Given the description of an element on the screen output the (x, y) to click on. 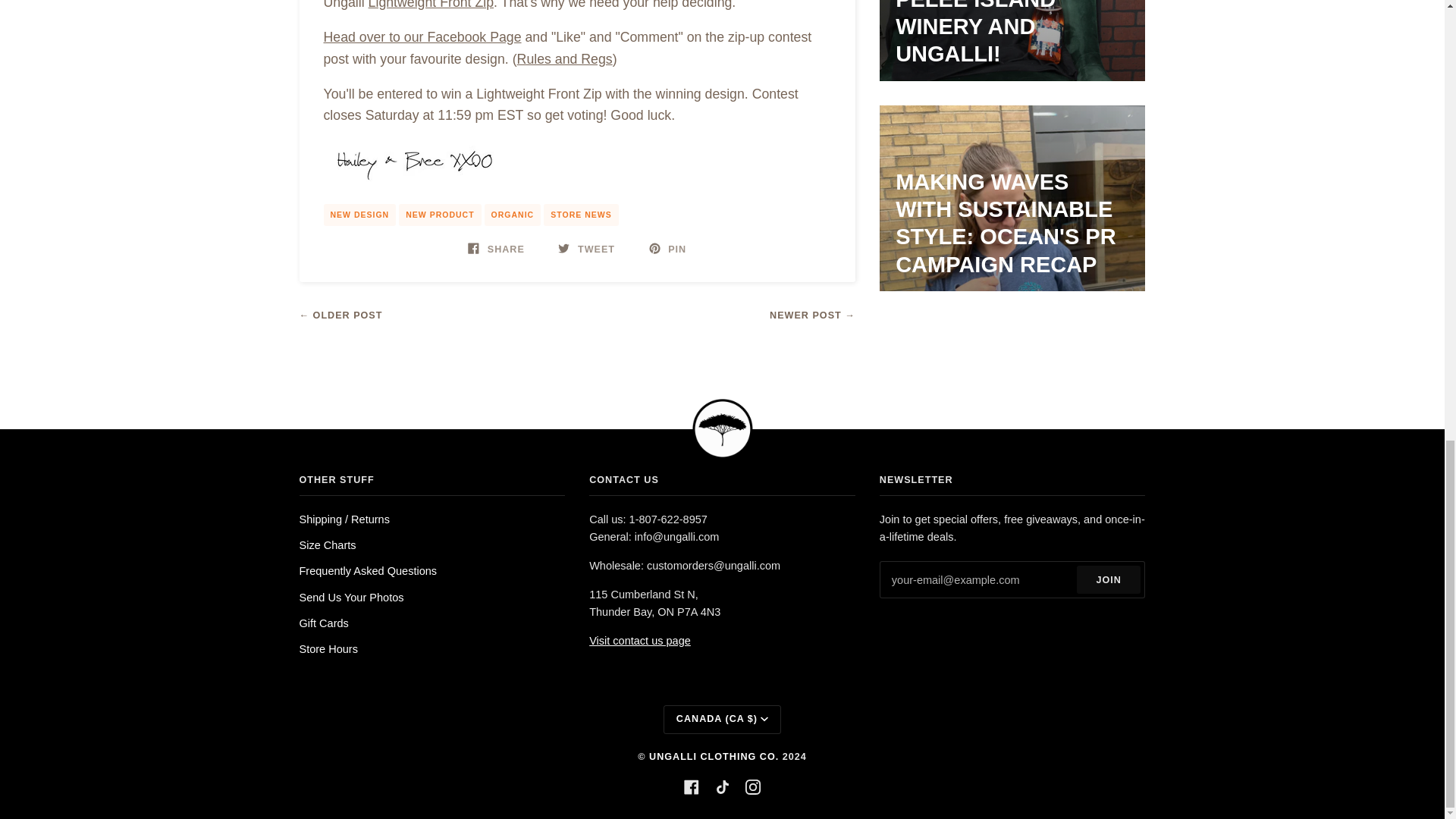
Tiktok (721, 786)
Instagram (752, 786)
Facebook (691, 786)
